Given the description of an element on the screen output the (x, y) to click on. 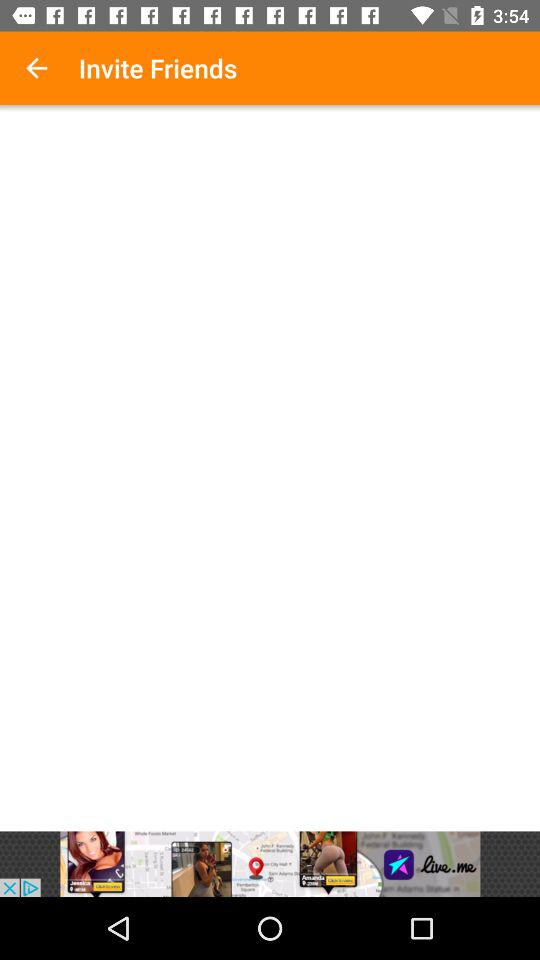
select main page (270, 471)
